Given the description of an element on the screen output the (x, y) to click on. 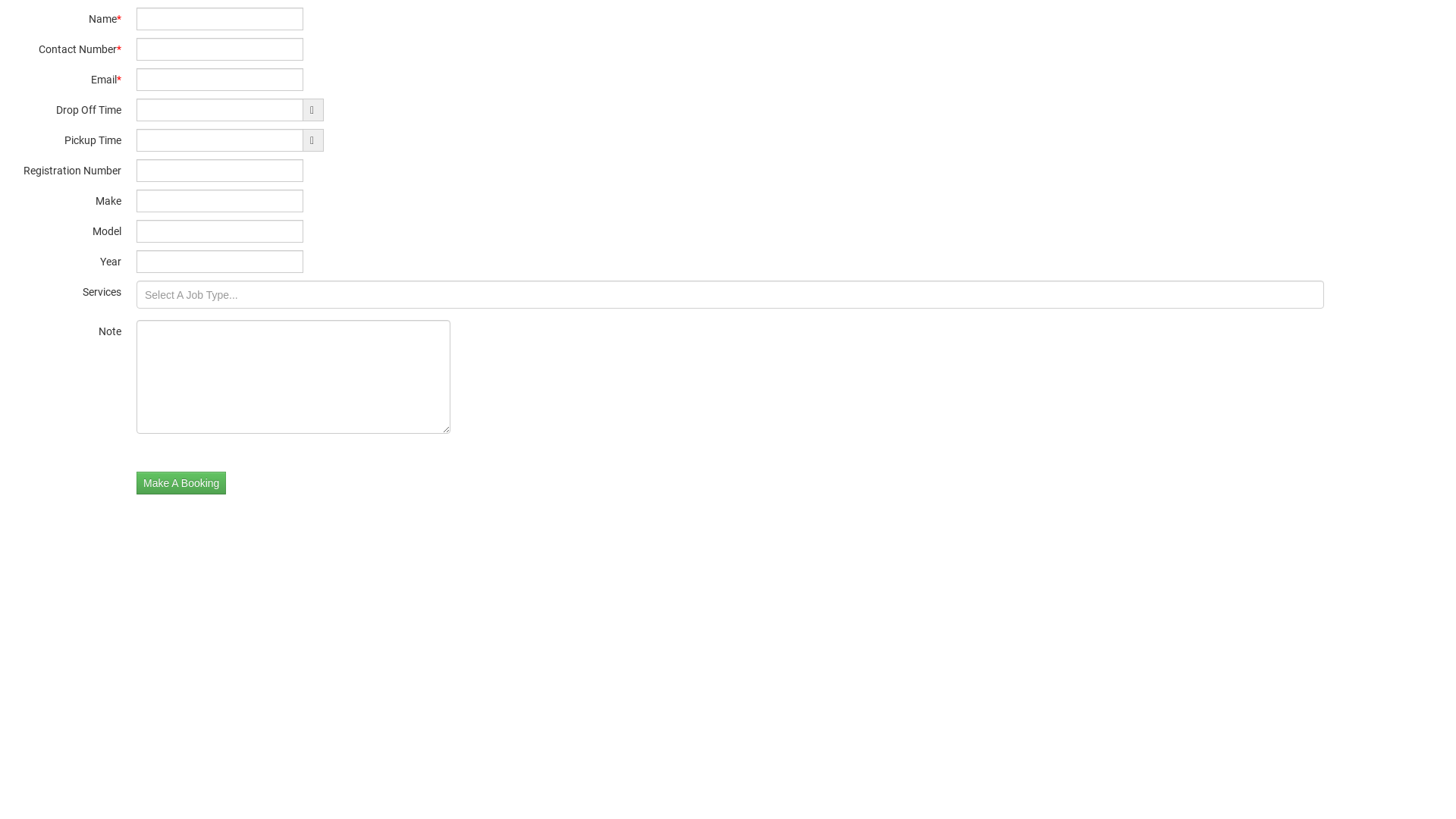
Make A Booking Element type: text (180, 482)
